Given the description of an element on the screen output the (x, y) to click on. 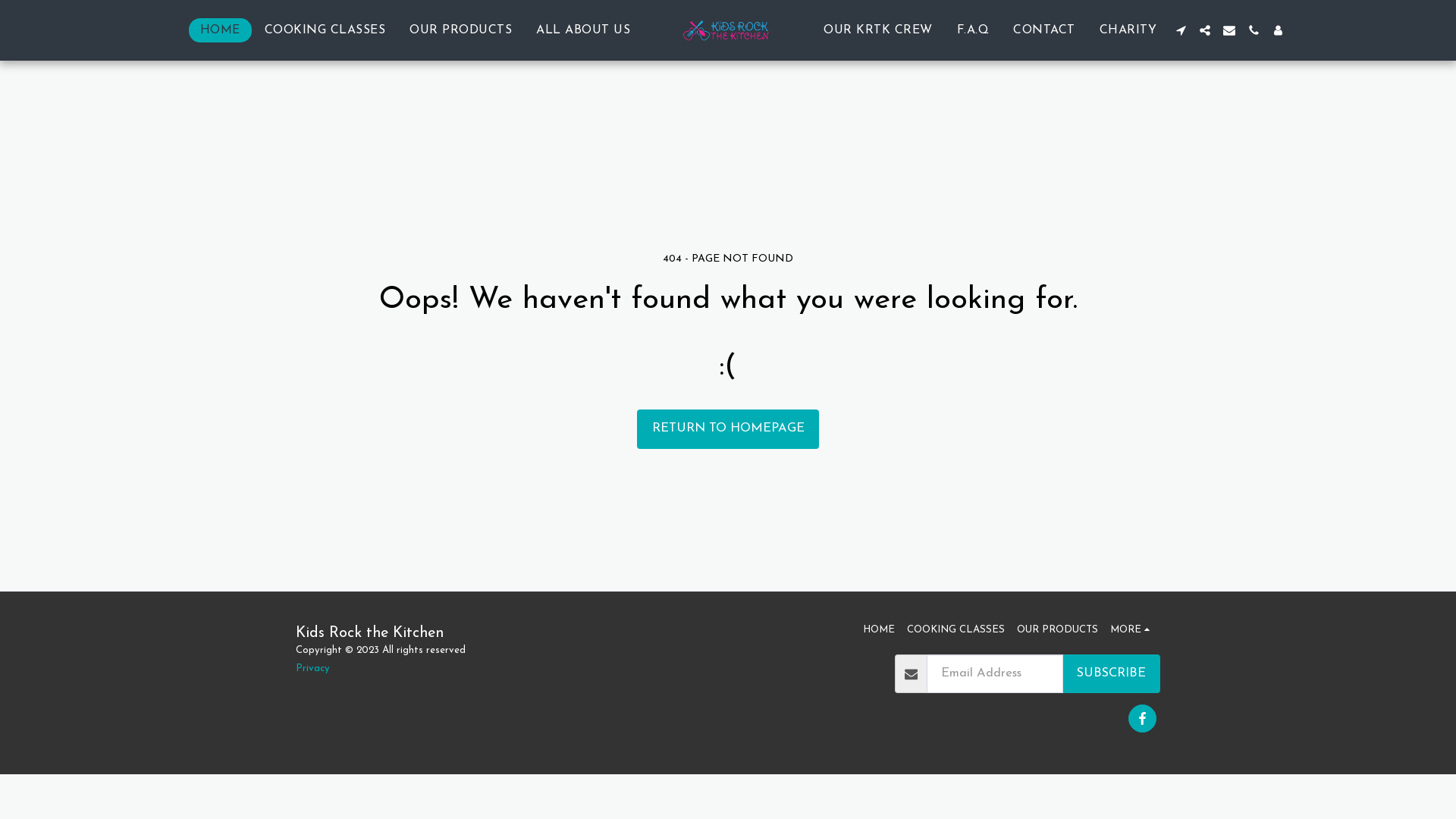
COOKING CLASSES Element type: text (325, 30)
MORE   Element type: text (1132, 629)
  Element type: text (1142, 718)
OUR KRTK CREW Element type: text (878, 30)
  Element type: text (1253, 30)
  Element type: text (1277, 30)
OUR PRODUCTS Element type: text (460, 30)
HOME Element type: text (219, 30)
CONTACT Element type: text (1043, 30)
RETURN TO HOMEPAGE Element type: text (727, 428)
F.A.Q Element type: text (973, 30)
COOKING CLASSES Element type: text (955, 629)
  Element type: text (1180, 30)
SUBSCRIBE Element type: text (1111, 673)
  Element type: text (1228, 30)
Privacy Element type: text (312, 668)
CHARITY Element type: text (1128, 30)
ALL ABOUT US Element type: text (582, 30)
HOME Element type: text (878, 629)
  Element type: text (1204, 30)
OUR PRODUCTS Element type: text (1057, 629)
